Given the description of an element on the screen output the (x, y) to click on. 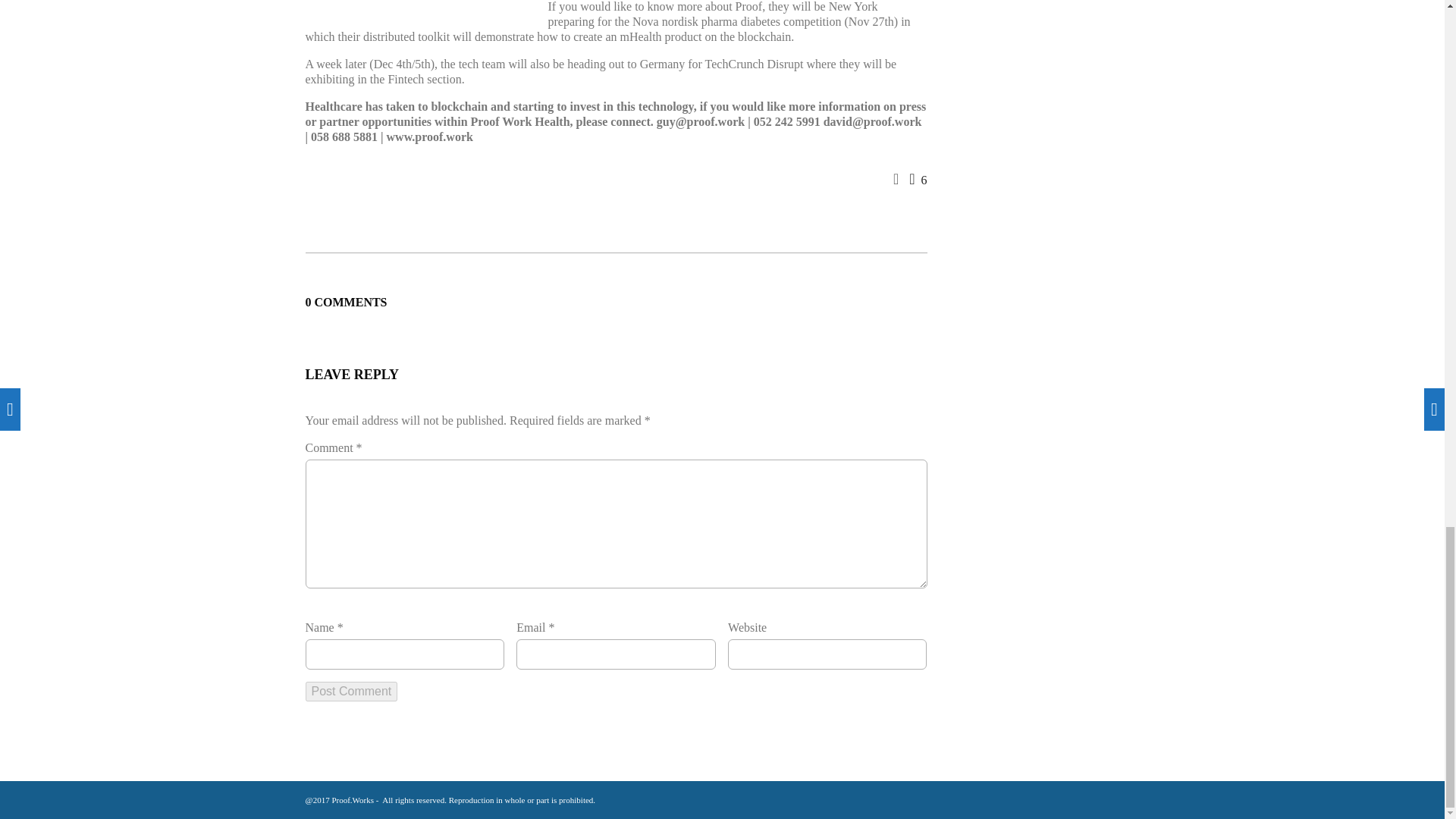
Post Comment (350, 691)
Post Comment (350, 691)
 6 (917, 179)
